Given the description of an element on the screen output the (x, y) to click on. 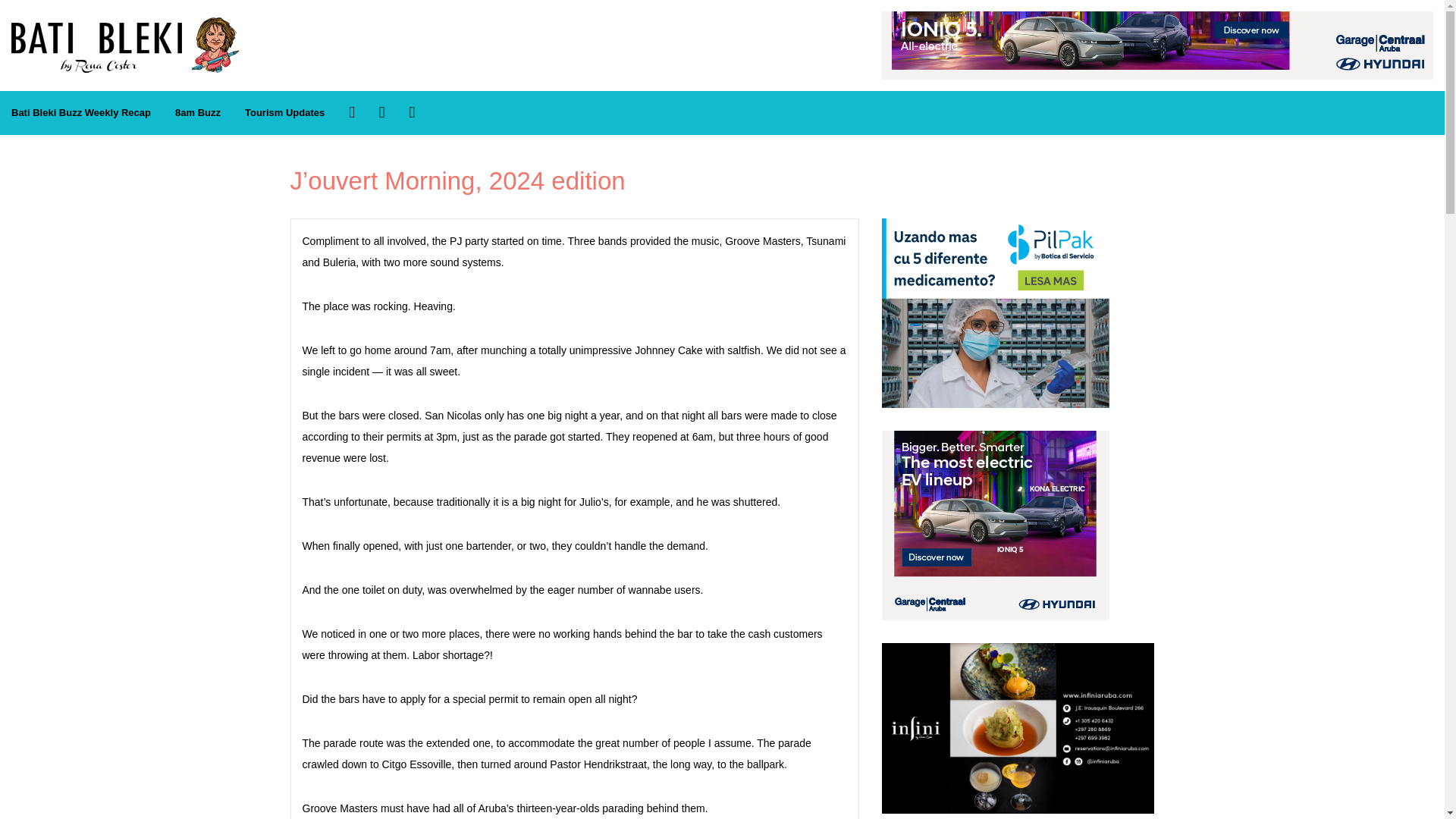
Download app in Google Play (411, 112)
8am Buzz (197, 112)
Go to my Facebook Page (351, 112)
Go to homepage (124, 25)
Tourism Updates (284, 112)
Bati Bleki Buzz Weekly Recap (80, 112)
Download app in App Store (382, 112)
